Given the description of an element on the screen output the (x, y) to click on. 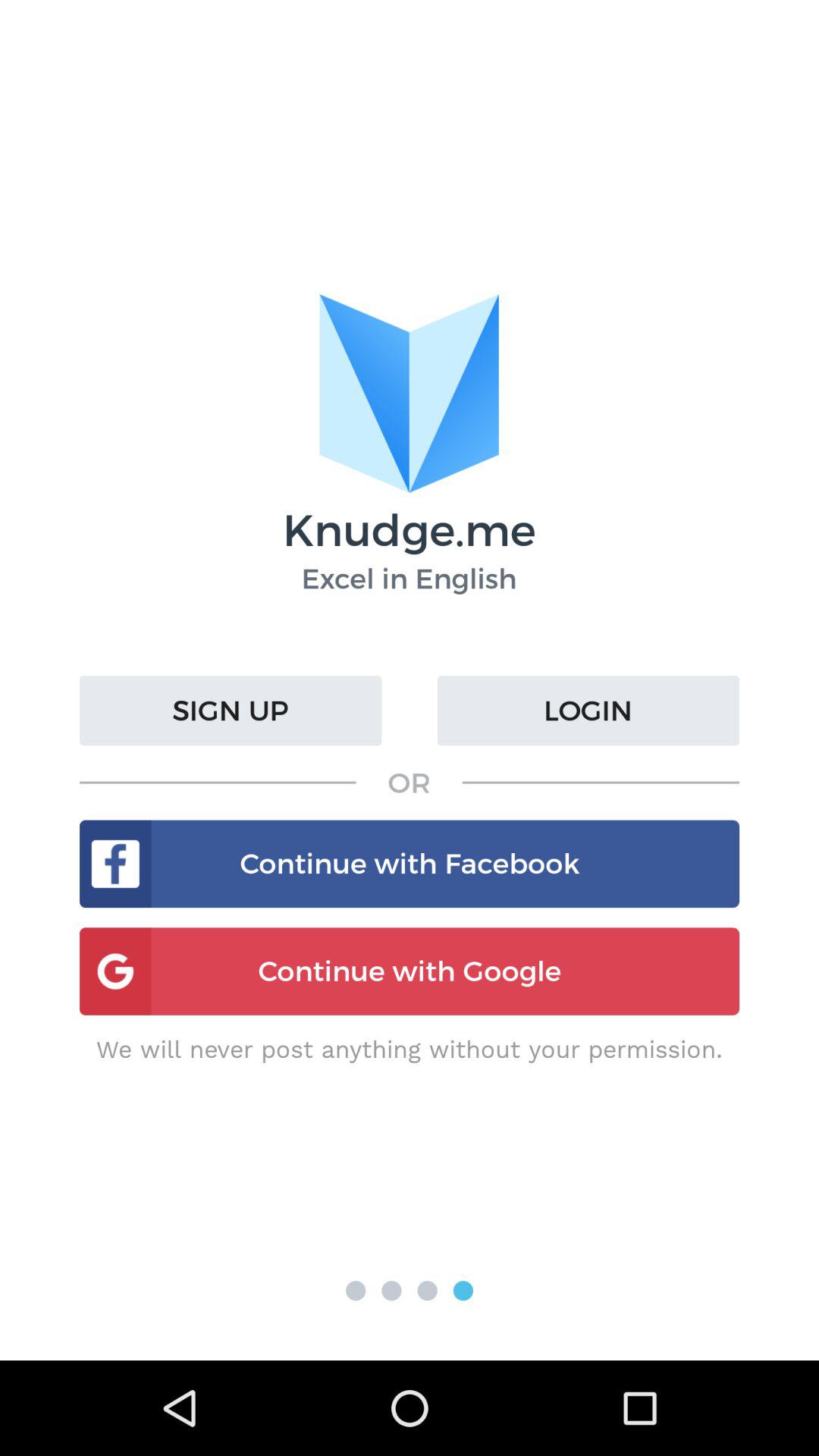
press item next to login icon (230, 710)
